Given the description of an element on the screen output the (x, y) to click on. 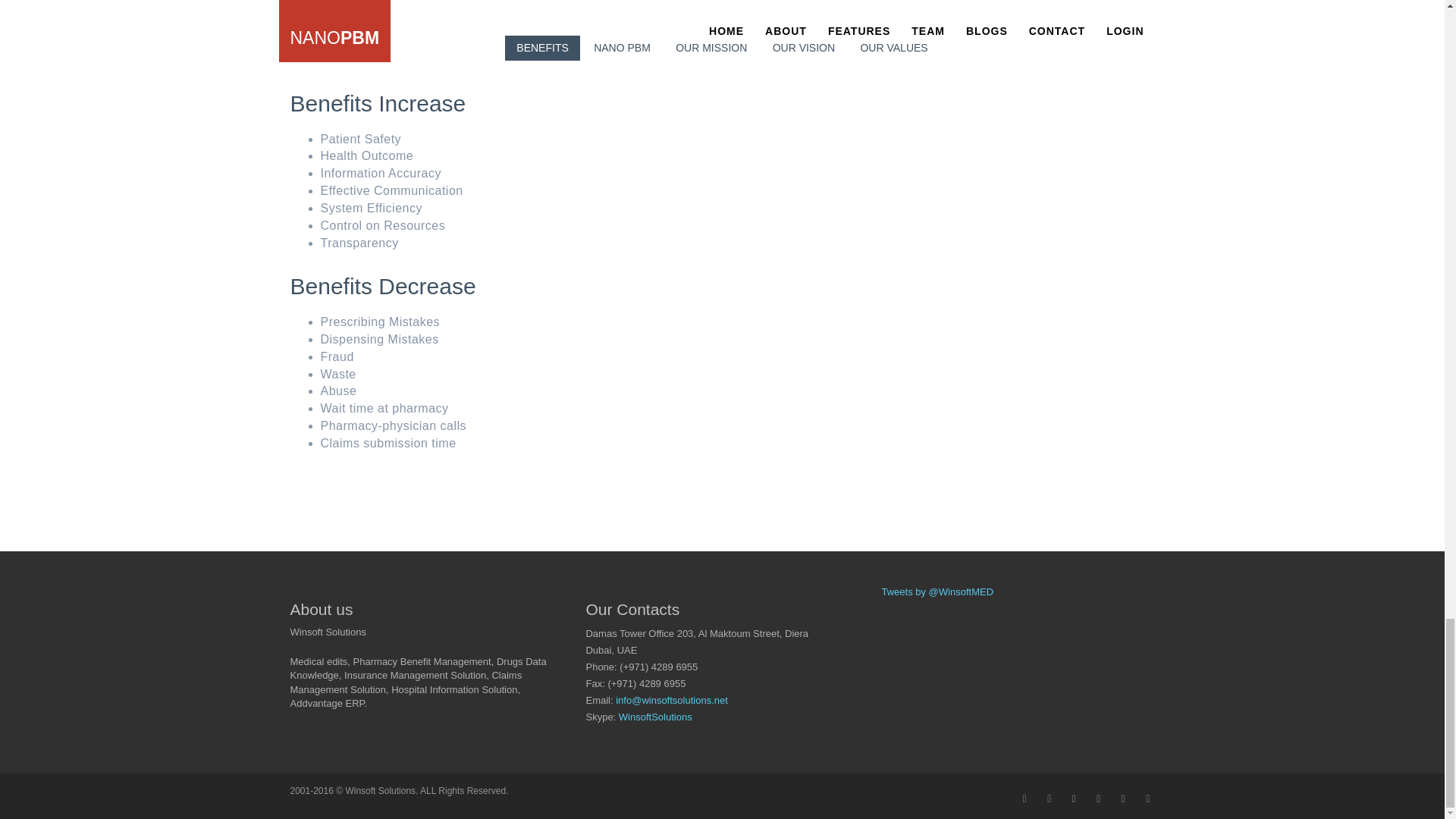
WinsoftSolutions (655, 716)
